Given the description of an element on the screen output the (x, y) to click on. 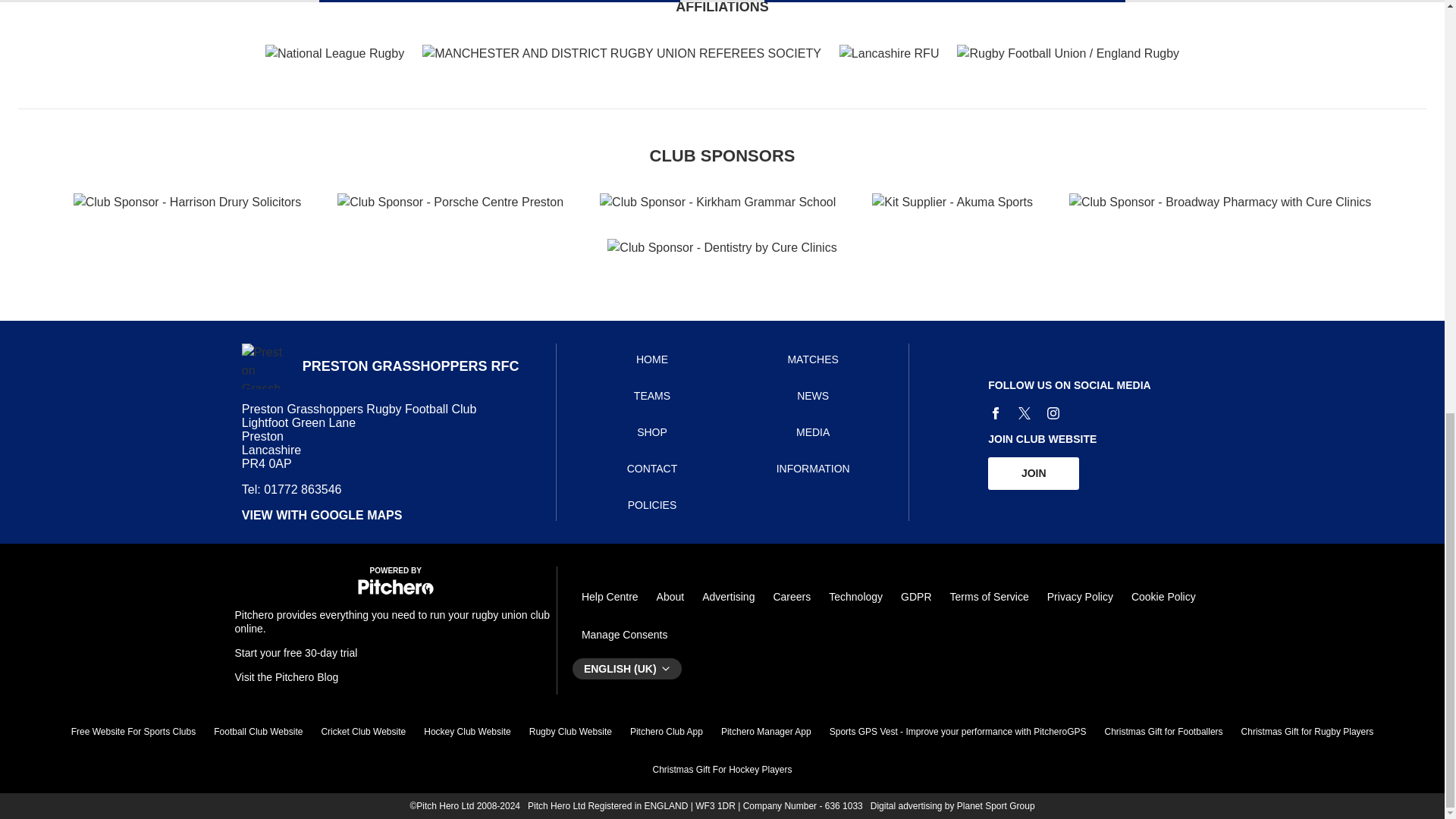
Club Sponsor - Kirkham Grammar School (717, 202)
Kit Supplier - Akuma Sports (952, 202)
Club Sponsor - Dentistry by Cure Clinics (721, 248)
Club Sponsor - Harrison Drury Solicitors (187, 202)
Club Sponsor - Porsche Centre Preston (450, 202)
Club Sponsor - Broadway Pharmacy with Cure Clinics (1219, 202)
